Given the description of an element on the screen output the (x, y) to click on. 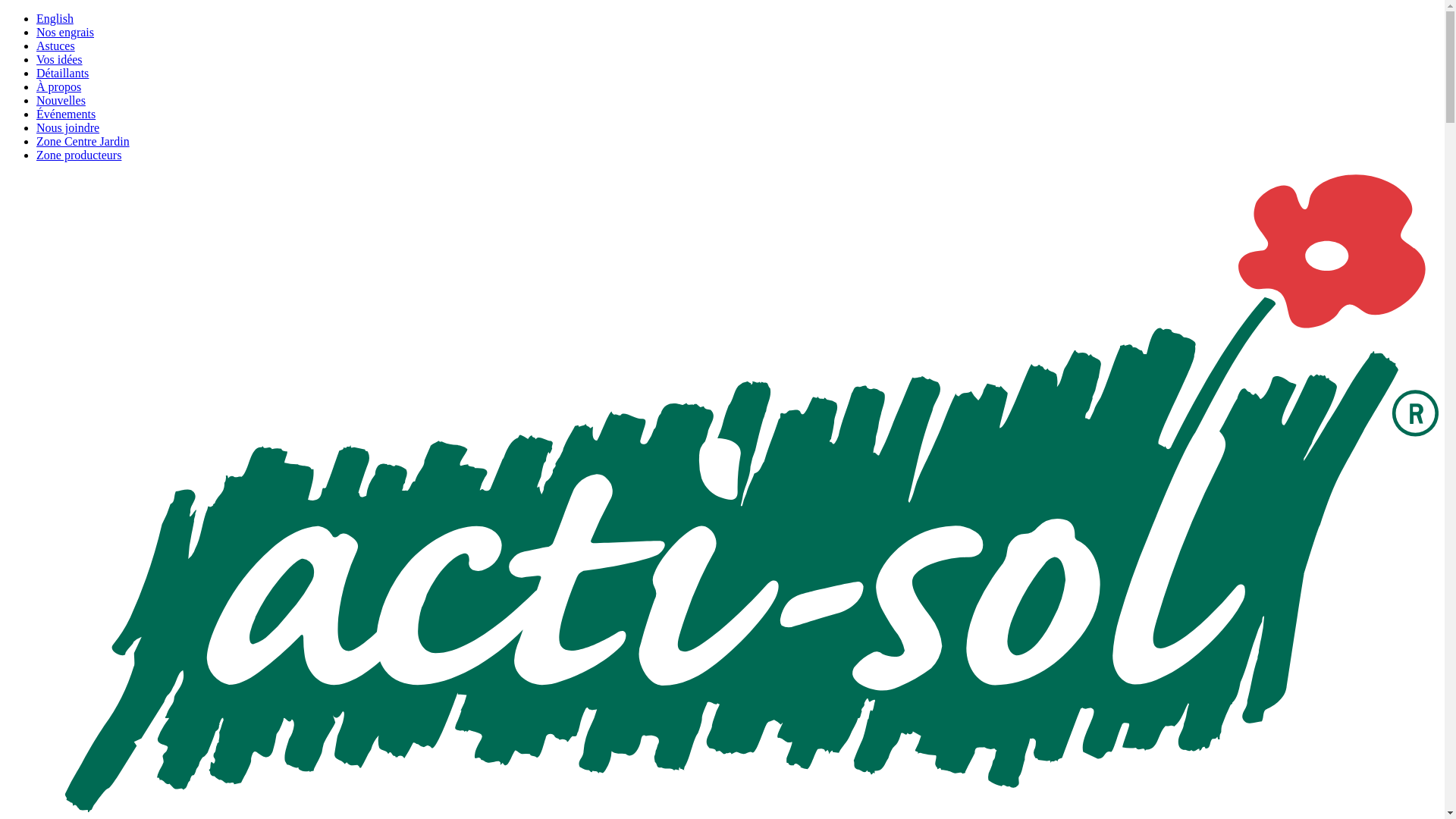
English Element type: text (54, 18)
Nouvelles Element type: text (60, 100)
Astuces Element type: text (55, 45)
Nos engrais Element type: text (65, 31)
Nous joindre Element type: text (67, 127)
Zone producteurs Element type: text (78, 154)
Zone Centre Jardin Element type: text (82, 140)
